Given the description of an element on the screen output the (x, y) to click on. 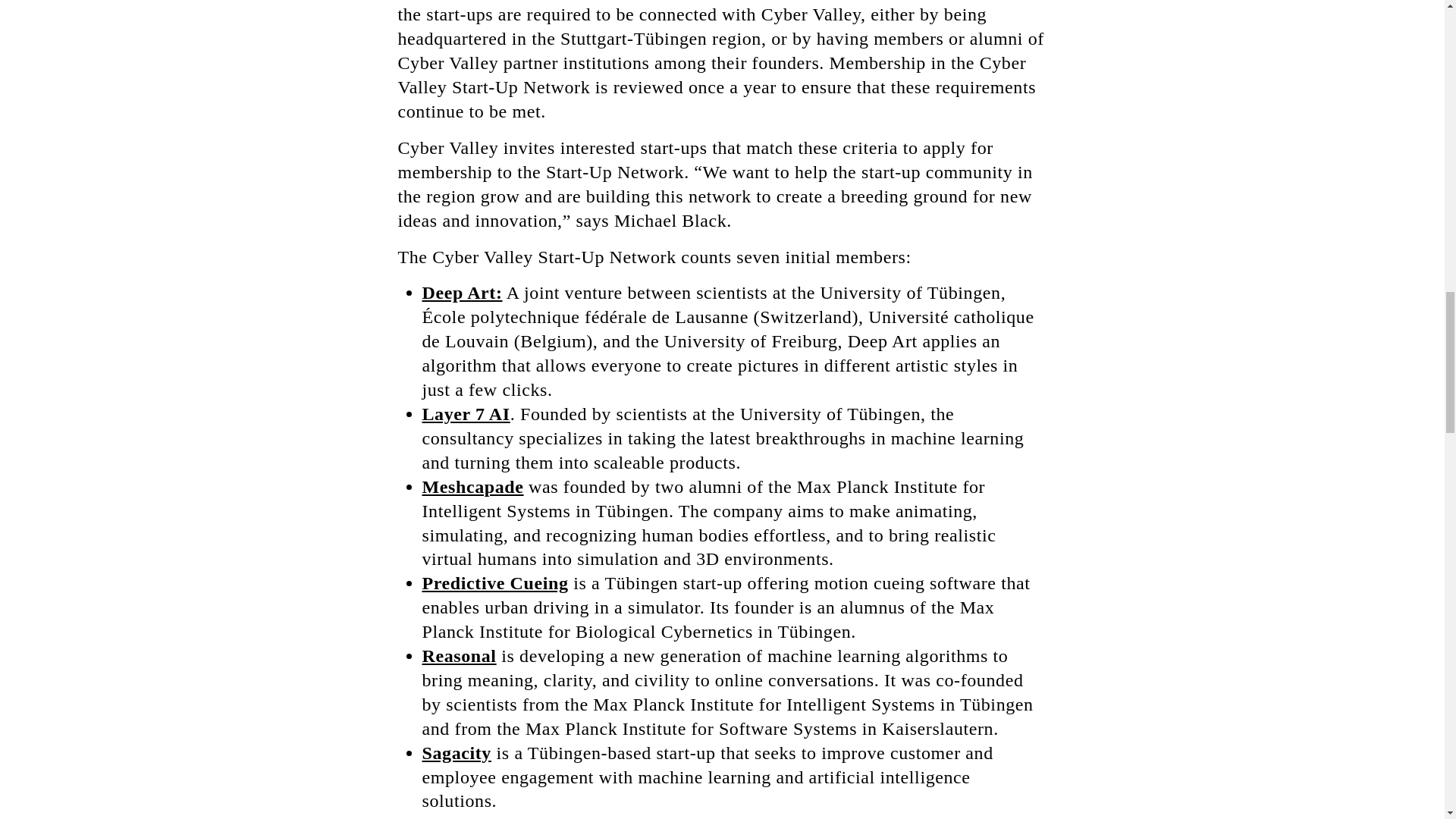
Sagacity (456, 752)
Layer 7 AI (465, 414)
Reasonal (459, 655)
Meshcapade (472, 486)
Deep Art: (462, 292)
Predictive Cueing (494, 582)
Scatterblogs (472, 816)
